Given the description of an element on the screen output the (x, y) to click on. 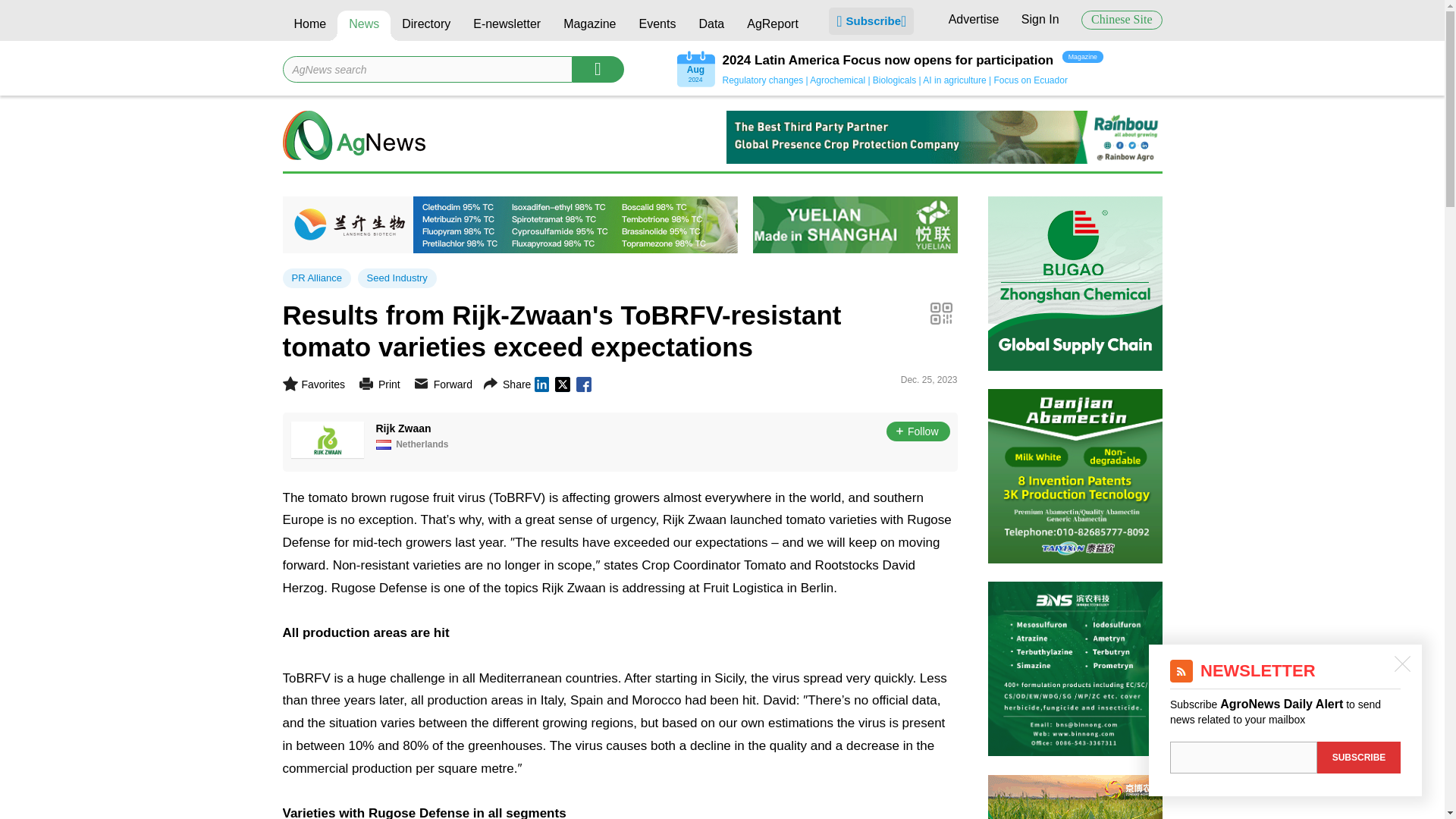
Data (711, 25)
Magazine (589, 25)
Events (657, 25)
SUBSCRIBE (1358, 757)
Home (309, 25)
AgReport (772, 25)
E-newsletter (506, 25)
Advertise (973, 19)
Chinese Site (1121, 19)
2024 Latin America Focus now opens for participation (887, 60)
